Given the description of an element on the screen output the (x, y) to click on. 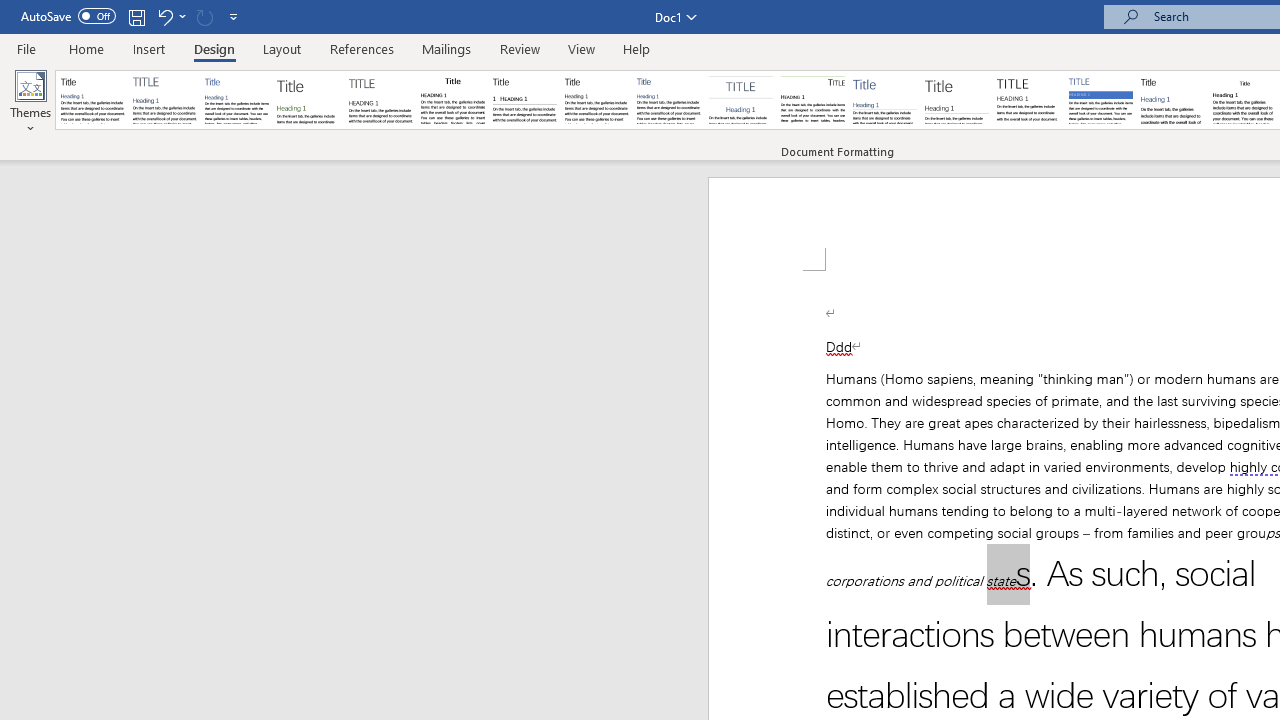
Shaded (1100, 100)
Minimalist (1028, 100)
Black & White (Numbered) (524, 100)
Lines (Distinctive) (812, 100)
Black & White (Word 2013) (596, 100)
